Given the description of an element on the screen output the (x, y) to click on. 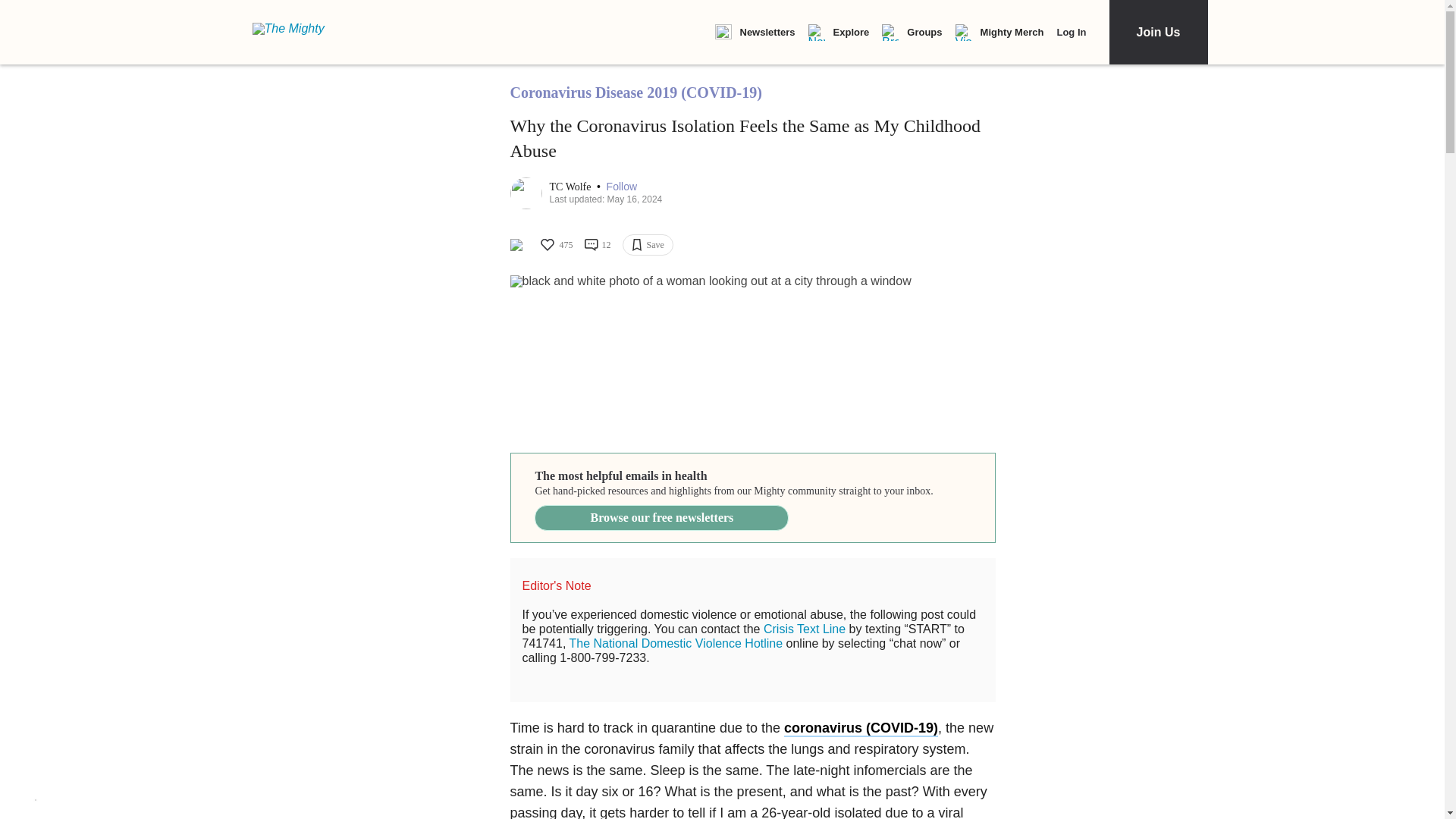
Newsletters (754, 32)
12 (596, 244)
The Mighty (296, 32)
The National Domestic Violence Hotline (676, 643)
TC Wolfe (571, 186)
475 (555, 244)
Join Us (1157, 32)
Mighty Merch (999, 32)
Browse our free newsletters (661, 517)
Explore (838, 32)
Groups (912, 32)
Save (646, 244)
Coronavirus Isolation Reminds Me of My Childhood Abuse (751, 356)
Crisis Text Line (803, 628)
Follow (622, 186)
